Given the description of an element on the screen output the (x, y) to click on. 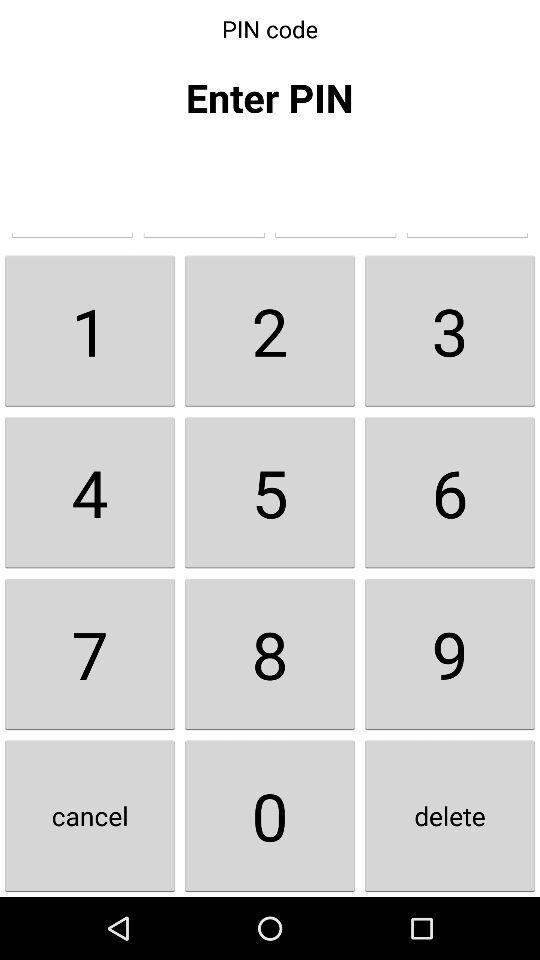
select button next to the 9 item (270, 815)
